Given the description of an element on the screen output the (x, y) to click on. 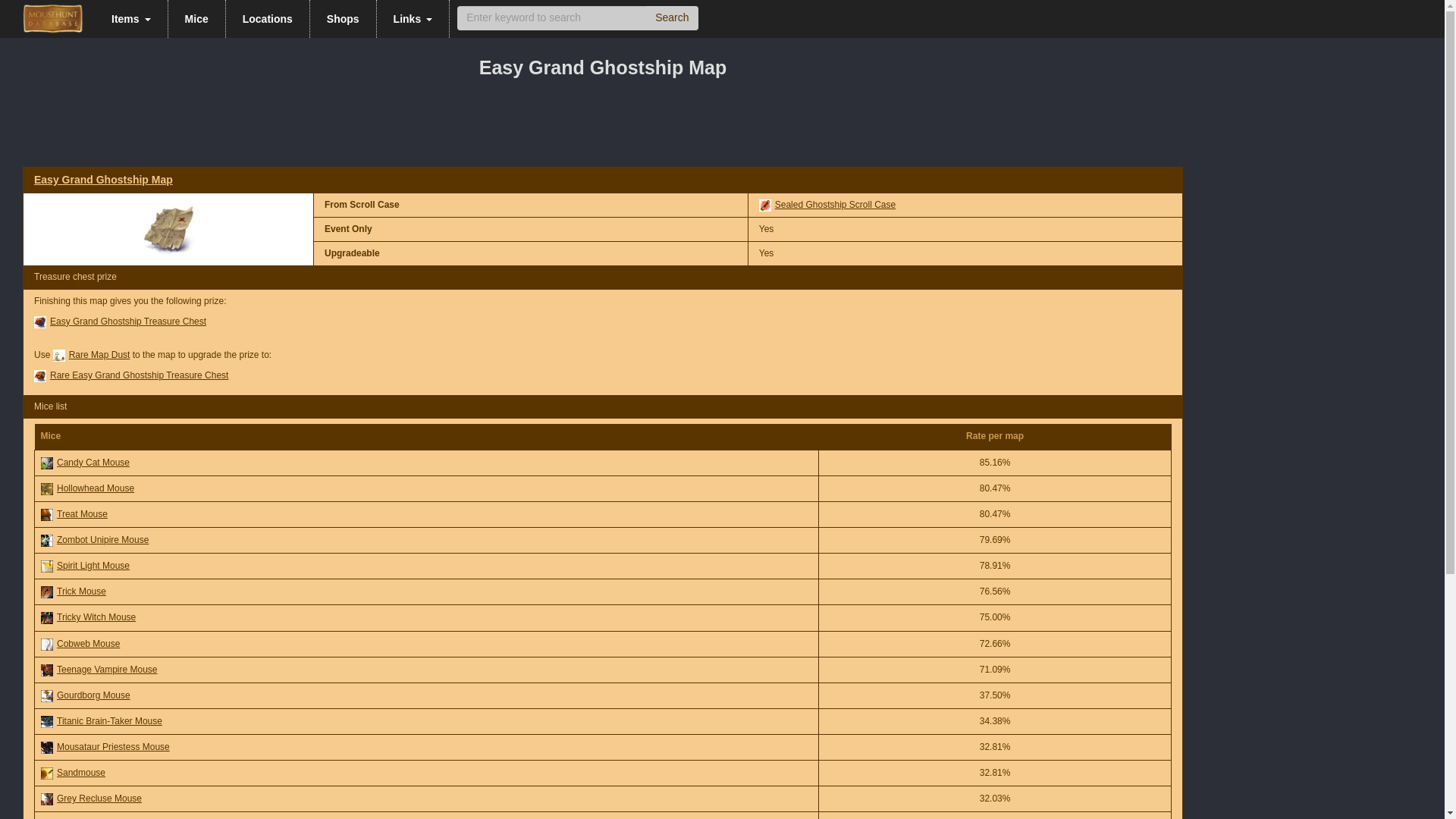
Search (671, 17)
Easy Grand Ghostship Treasure Chest (39, 322)
Rare Easy Grand Ghostship Treasure Chest (39, 376)
Shops (343, 18)
Easy Grand Ghostship Map (103, 179)
Easy Grand Ghostship Map (167, 229)
Items (131, 18)
Candy Cat Mouse (46, 463)
Advertisement (603, 128)
Trick Mouse (46, 592)
Treat Mouse (46, 514)
Rare Map Dust (99, 354)
Tricky Witch Mouse (46, 617)
Gourdborg Mouse (46, 695)
Easy Grand Ghostship Treasure Chest (127, 321)
